Given the description of an element on the screen output the (x, y) to click on. 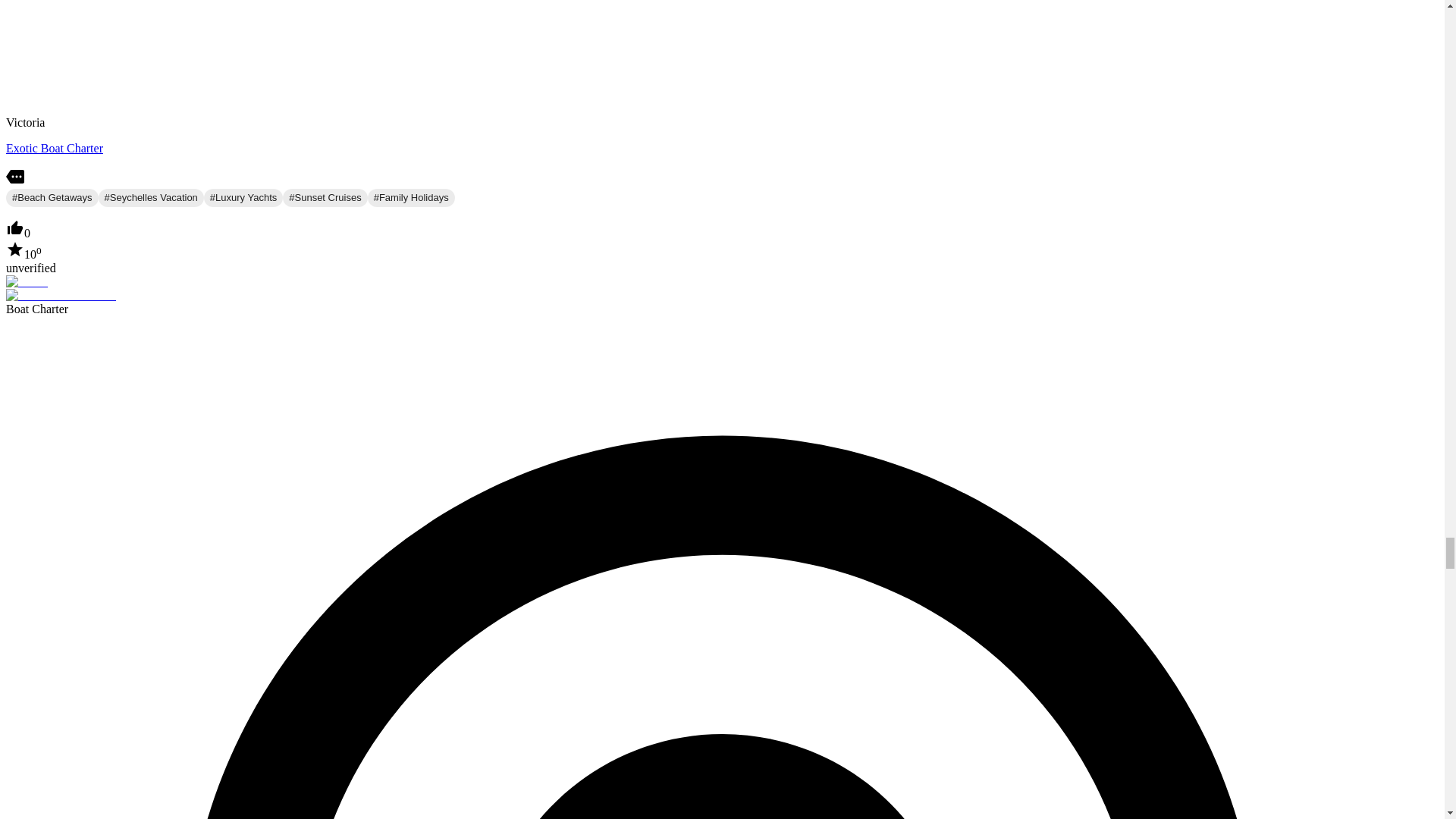
Exotic Boat Charter Seychelles (54, 147)
